Given the description of an element on the screen output the (x, y) to click on. 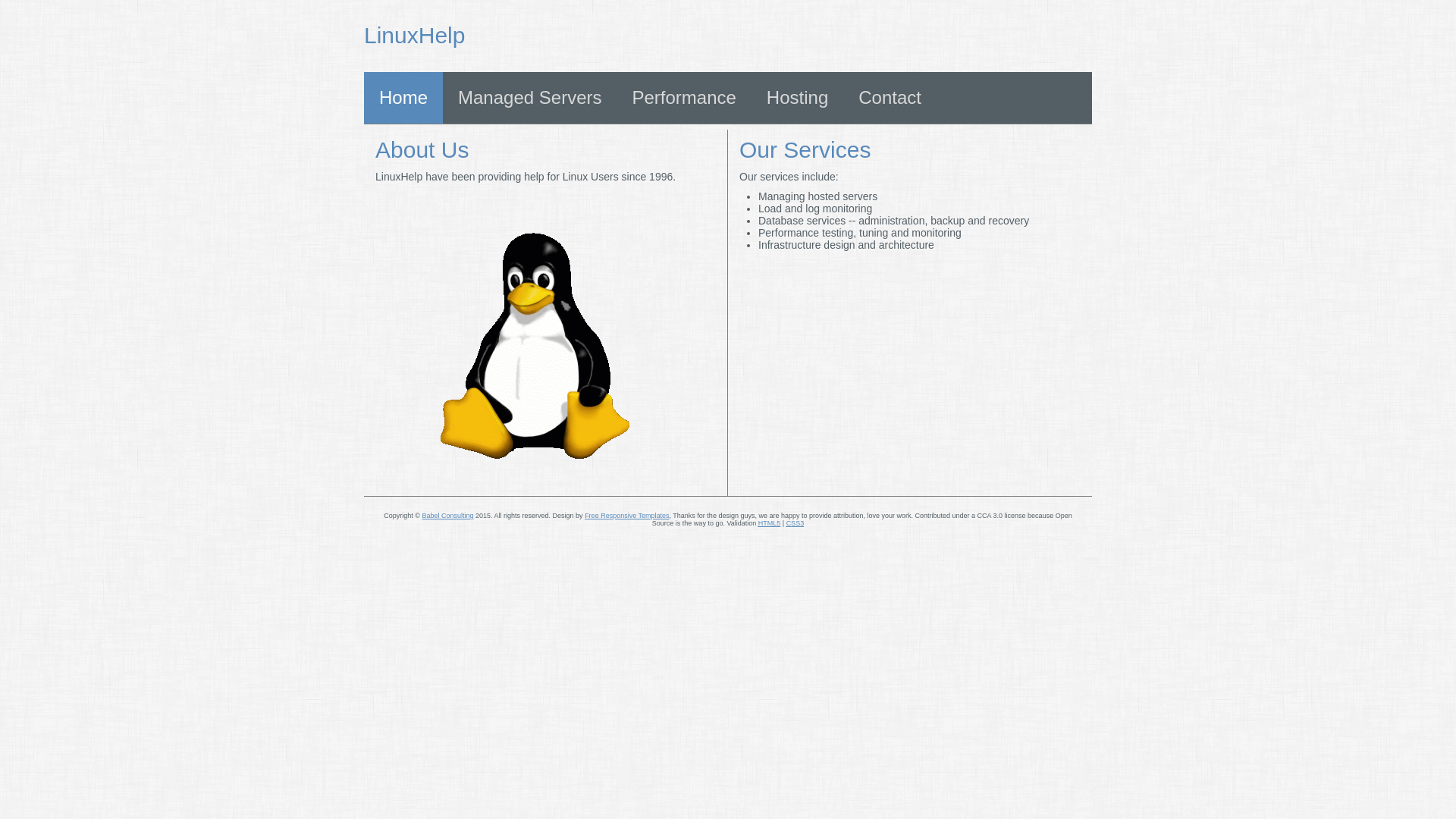
Free Responsive Templates Element type: text (626, 515)
Contact Element type: text (889, 97)
HTML5 Element type: text (769, 523)
Babel Consulting Element type: text (447, 515)
Performance Element type: text (683, 97)
CSS3 Element type: text (795, 523)
Hosting Element type: text (797, 97)
Home Element type: text (403, 97)
Managed Servers Element type: text (529, 97)
